Given the description of an element on the screen output the (x, y) to click on. 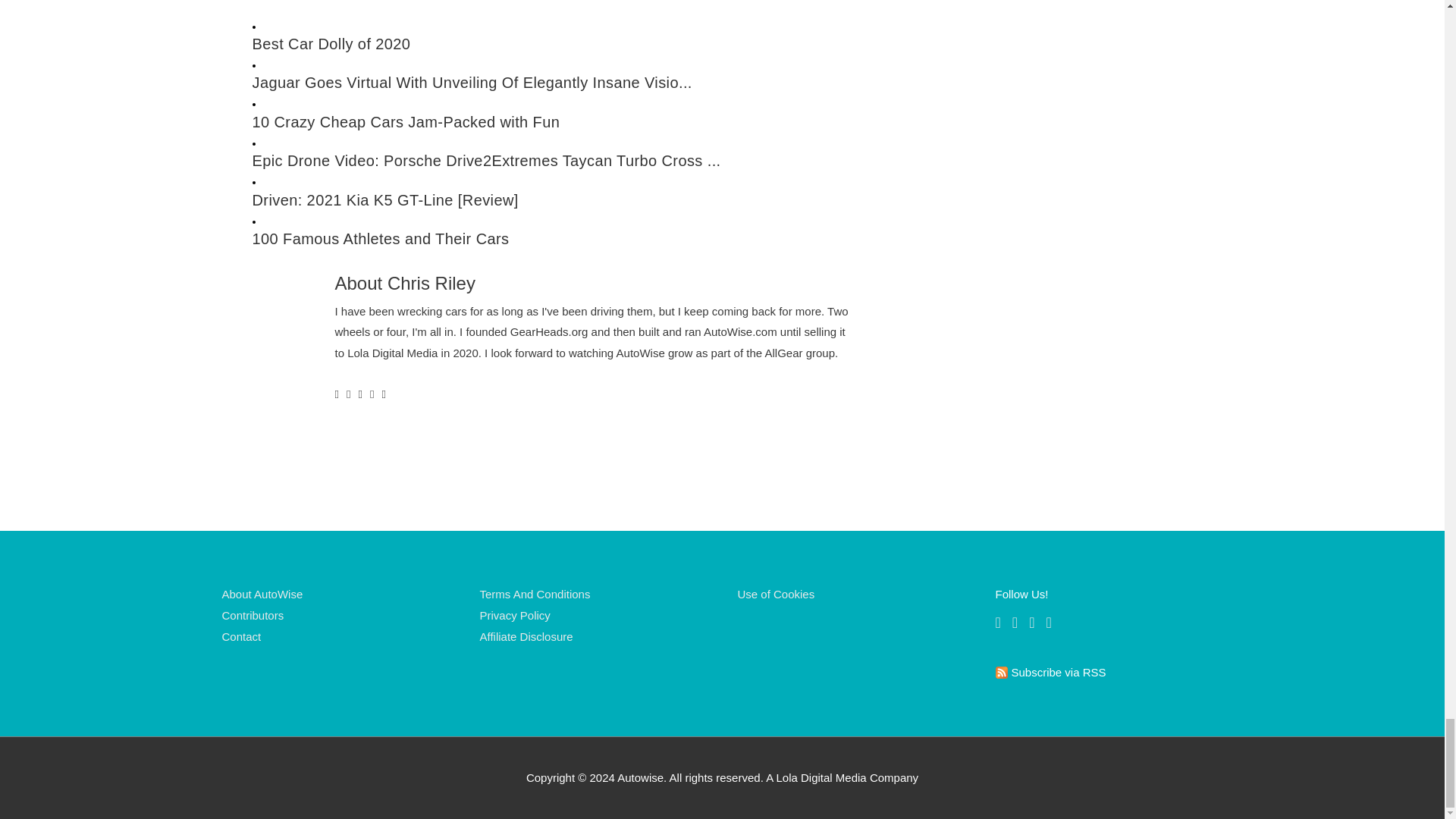
Best Car Dolly of 2020 (562, 44)
10 Crazy Cheap Cars Jam-Packed with Fun (562, 122)
